Given the description of an element on the screen output the (x, y) to click on. 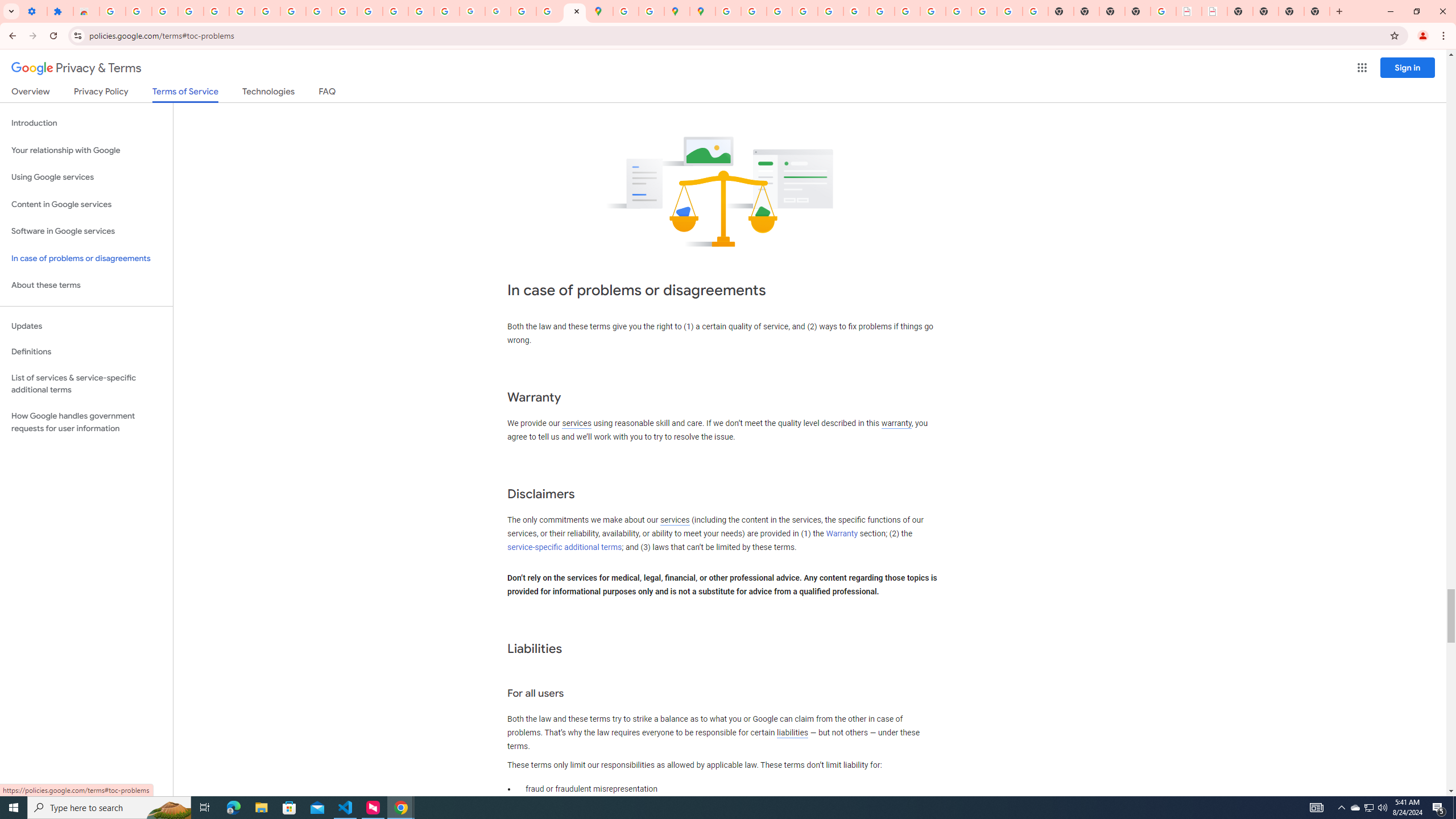
BAE Systems Brasil | BAE Systems (1213, 11)
Sign in - Google Accounts (242, 11)
Using Google services (86, 176)
liabilities (792, 732)
